Given the description of an element on the screen output the (x, y) to click on. 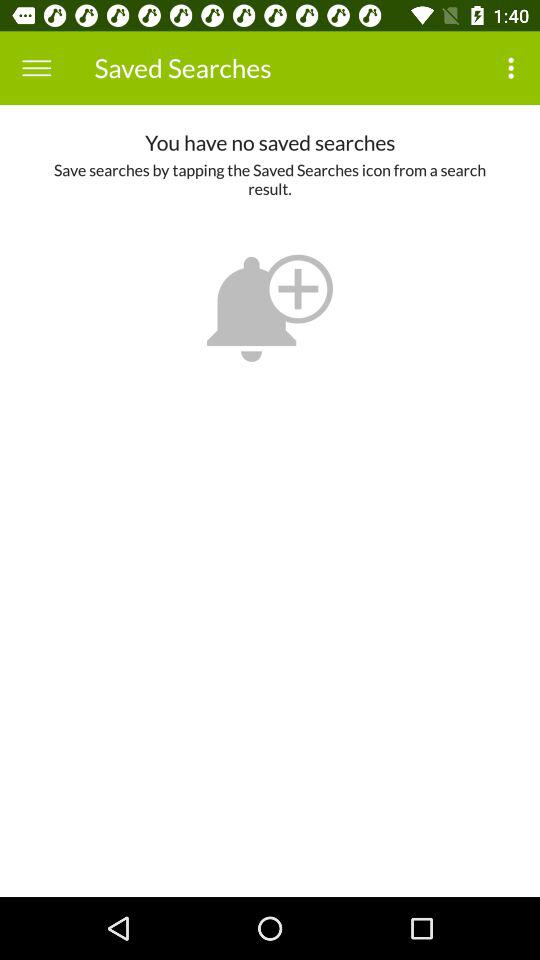
select icon next to the saved searches icon (36, 68)
